Given the description of an element on the screen output the (x, y) to click on. 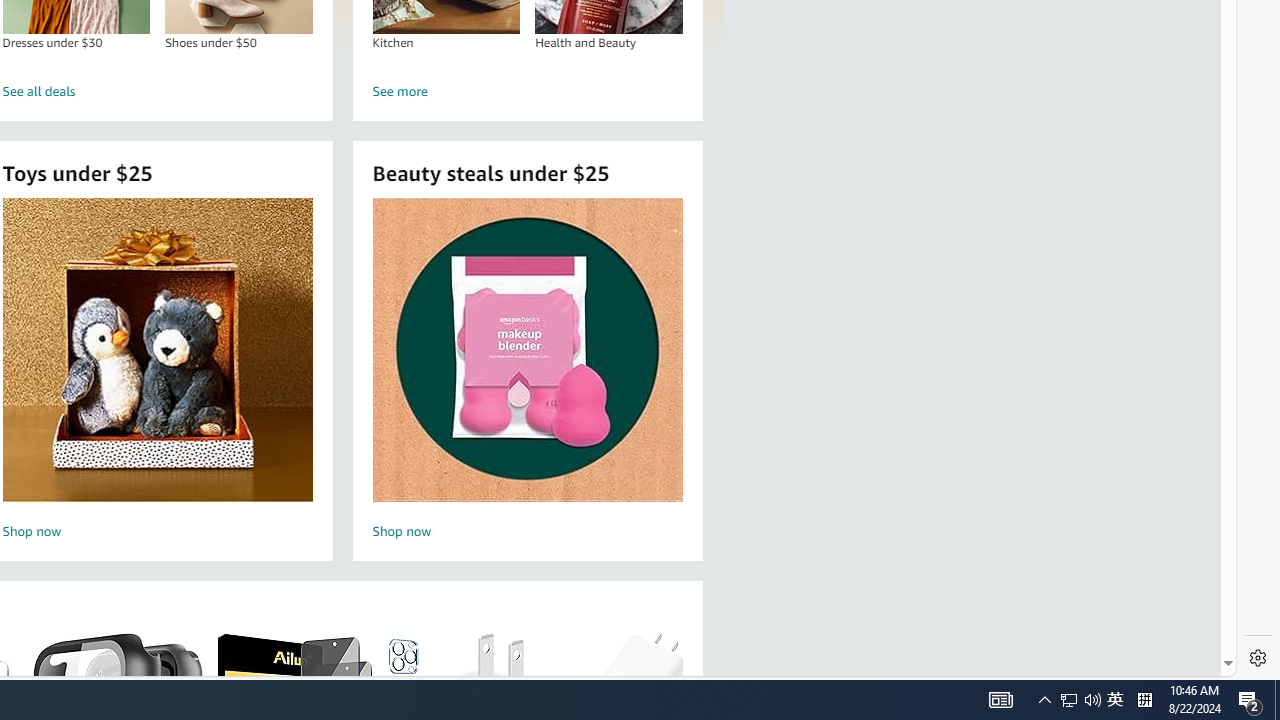
User Promoted Notification Area (1080, 699)
Tray Input Indicator - Chinese (Simplified, China) (1144, 699)
Spaces: 4 (968, 668)
Show desktop (1277, 699)
See all deals (157, 92)
Maximize Panel Size (1230, 227)
Views and More Actions... (1069, 699)
Notification Chevron (1205, 227)
Python (1044, 699)
Notifications (1135, 668)
UTF-8 (1257, 668)
